Given the description of an element on the screen output the (x, y) to click on. 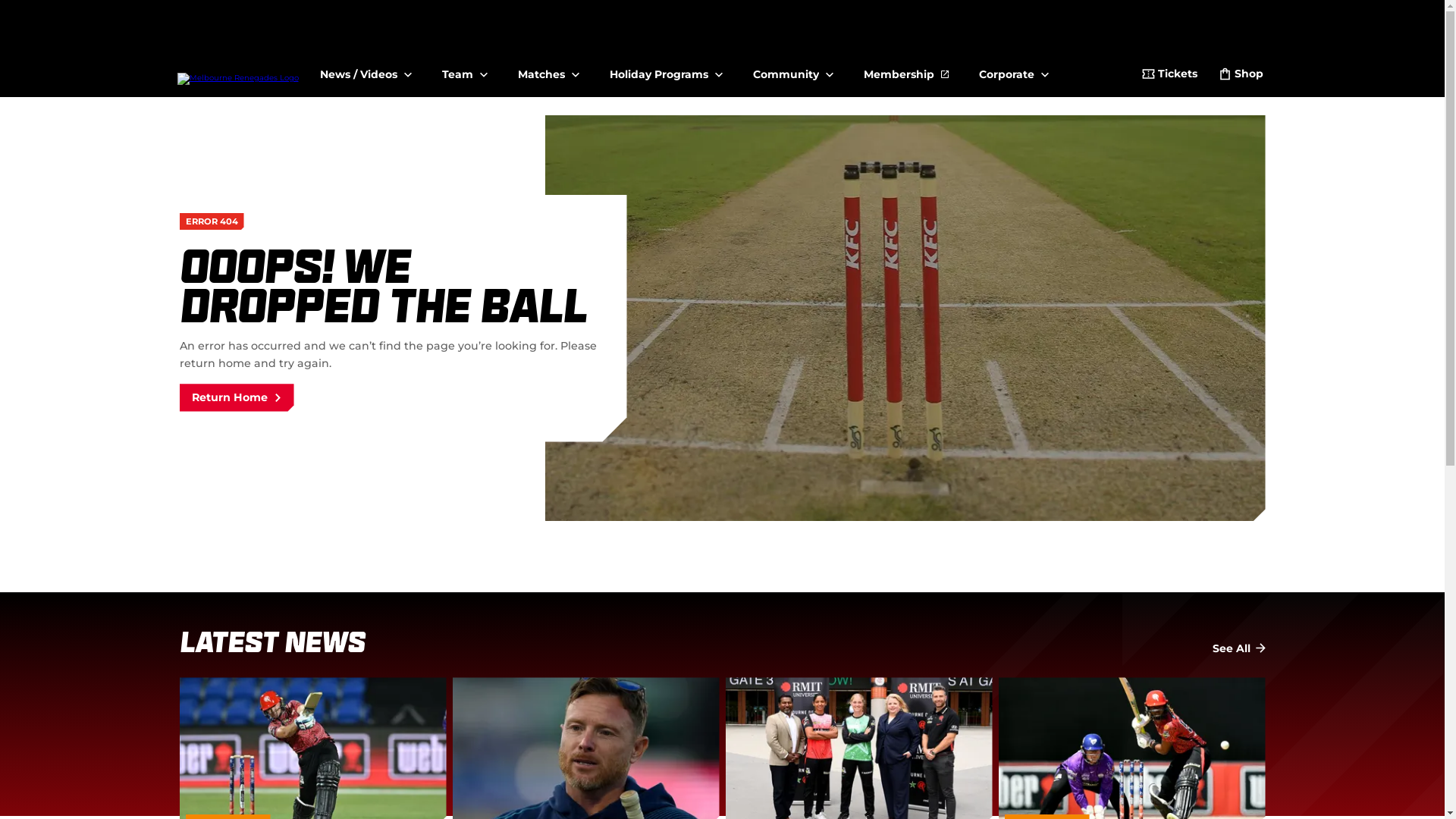
Return to Homepage Element type: hover (237, 51)
Community Element type: text (792, 68)
Membership
  (opens new window) Element type: text (905, 68)
Tickets Element type: text (1169, 75)
See All Element type: text (1237, 648)
Return Home Element type: text (235, 397)
Shop
(opens new window) Element type: text (1239, 75)
Team Element type: text (464, 68)
Corporate Element type: text (1013, 68)
Matches Element type: text (547, 68)
Holiday Programs Element type: text (665, 68)
News / Videos Element type: text (365, 68)
